Given the description of an element on the screen output the (x, y) to click on. 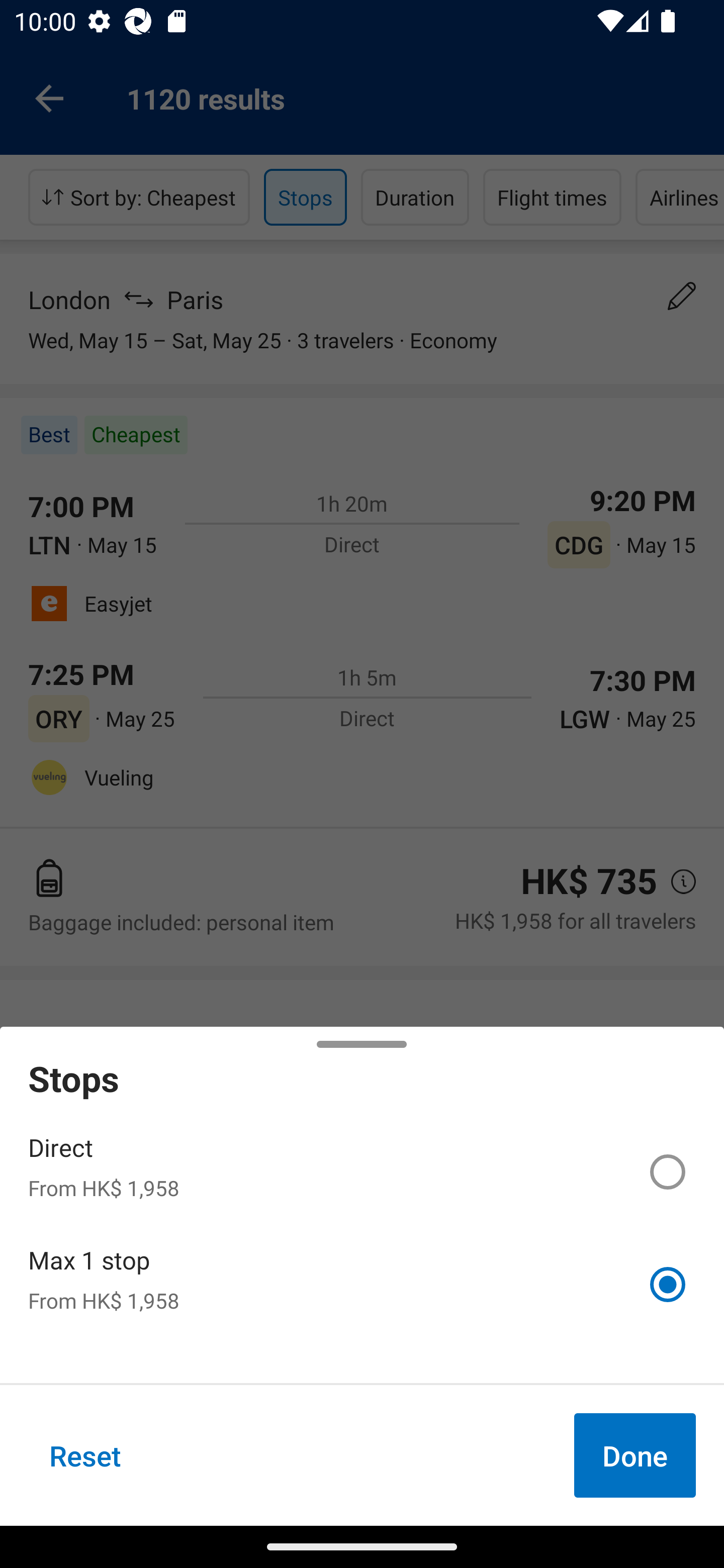
Direct From HK$ 1,958 (362, 1171)
Max 1 stop From HK$ 1,958 (362, 1283)
Reset (85, 1454)
Done (634, 1454)
